Given the description of an element on the screen output the (x, y) to click on. 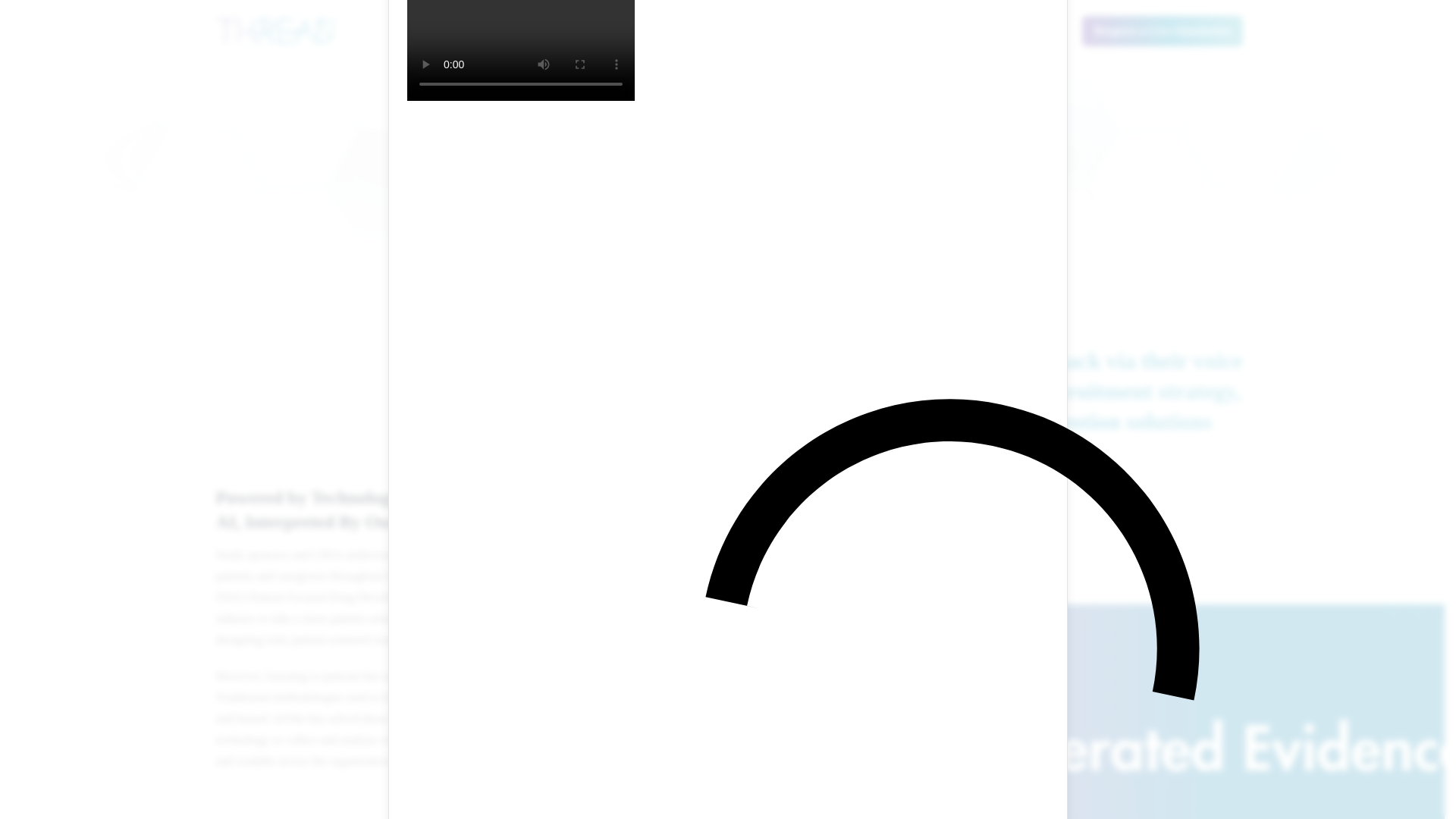
Our Solutions (543, 30)
Configurable Platform (671, 30)
Request a Live Simulation (1162, 30)
About Us (925, 30)
Consulting Services (814, 30)
THREAD (276, 30)
